Given the description of an element on the screen output the (x, y) to click on. 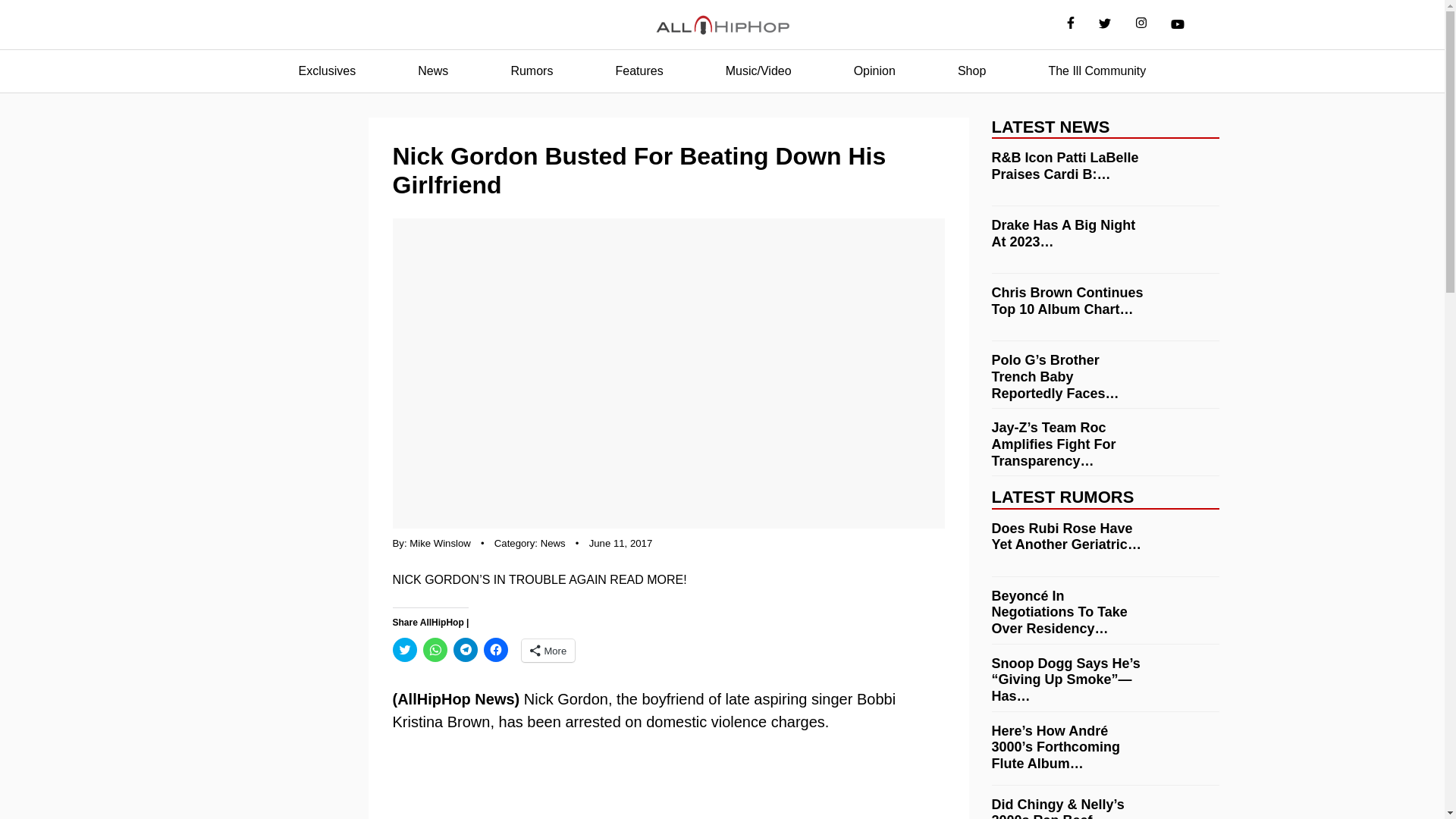
News (553, 542)
Opinion (874, 70)
News (433, 70)
Mike Winslow (439, 542)
Click to share on Telegram (464, 649)
Click to share on WhatsApp (434, 649)
Shop (970, 70)
The Ill Community (1096, 70)
Click to share on Facebook (495, 649)
Rumors (530, 70)
